Given the description of an element on the screen output the (x, y) to click on. 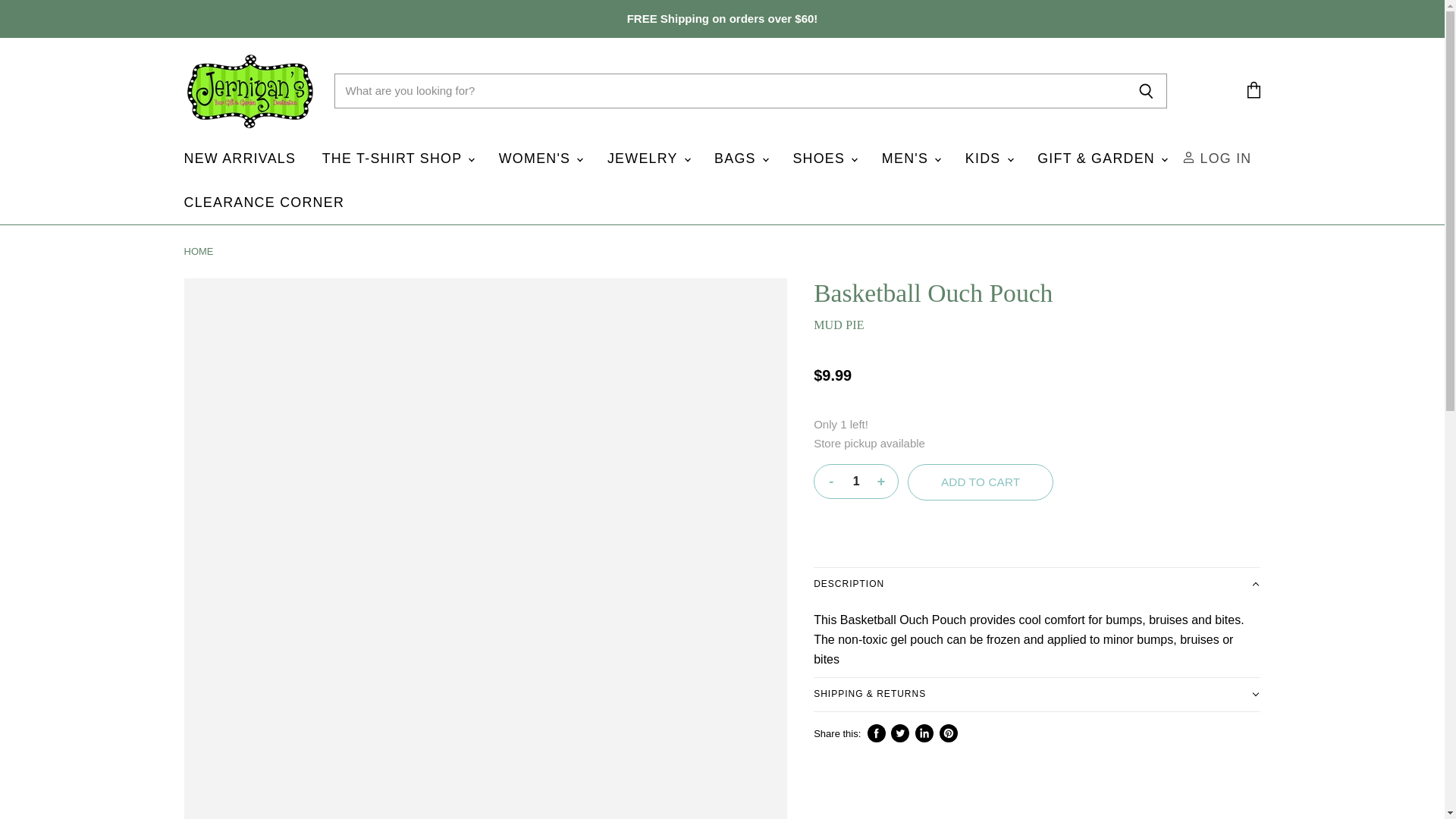
WOMEN'S (539, 158)
THE T-SHIRT SHOP (397, 158)
MUD PIE (838, 324)
ACCOUNT ICON (1188, 156)
NEW ARRIVALS (240, 158)
1 (855, 481)
